Given the description of an element on the screen output the (x, y) to click on. 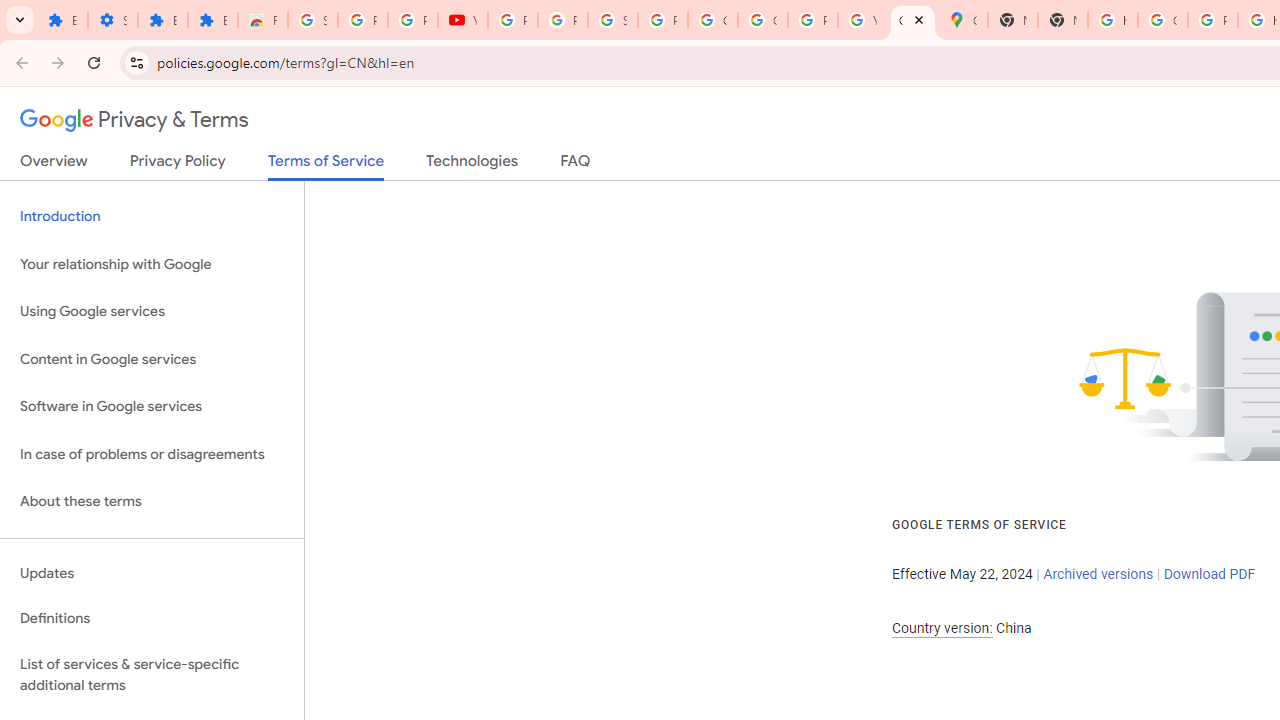
Google Account (712, 20)
New Tab (1013, 20)
Country version: (942, 628)
Extensions (163, 20)
